Given the description of an element on the screen output the (x, y) to click on. 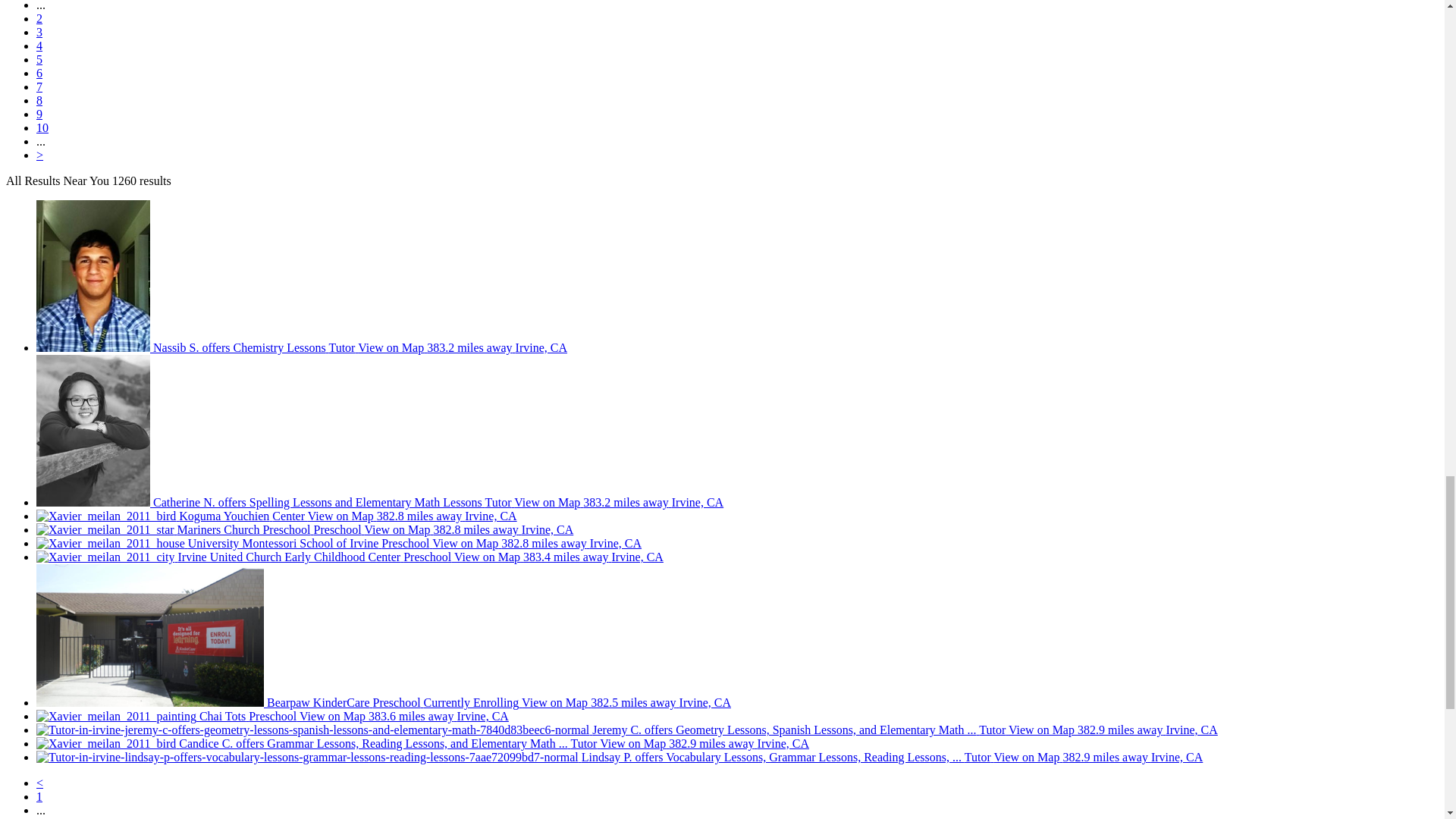
View Nassib S. offers Chemistry Lessons on the map (390, 347)
View University Montessori School of Irvine on the map (464, 543)
View Irvine United Church Early Childhood Center on the map (486, 556)
View Chai Tots on the map (332, 716)
View Koguma Youchien on the map (340, 515)
View Mariners Church Preschool on the map (396, 529)
10 (42, 127)
View Bearpaw KinderCare on the map (554, 702)
